Given the description of an element on the screen output the (x, y) to click on. 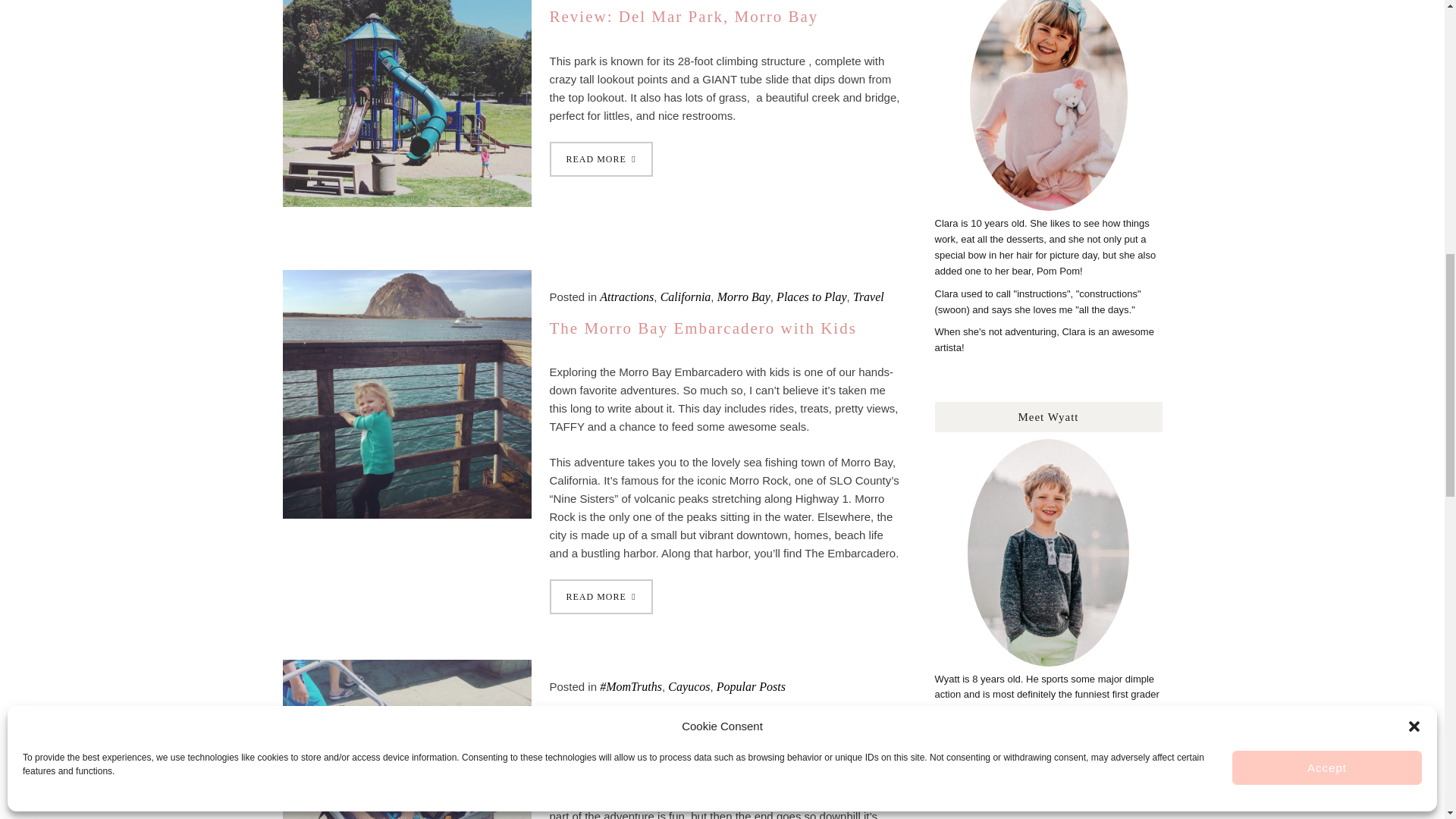
Accept (1326, 358)
